Given the description of an element on the screen output the (x, y) to click on. 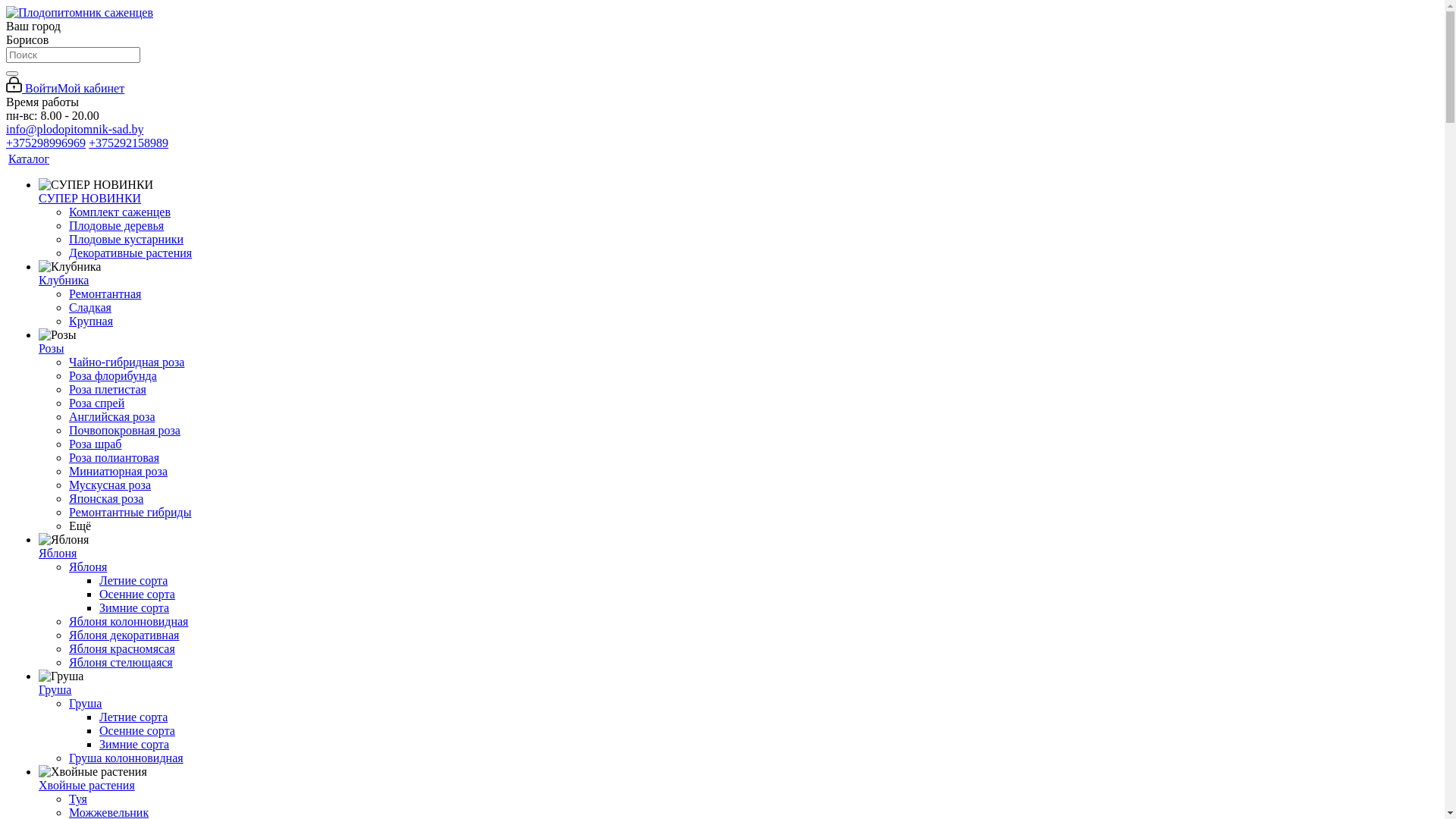
+375292158989 Element type: text (128, 142)
+375298996969 Element type: text (45, 142)
info@plodopitomnik-sad.by Element type: text (74, 128)
